Given the description of an element on the screen output the (x, y) to click on. 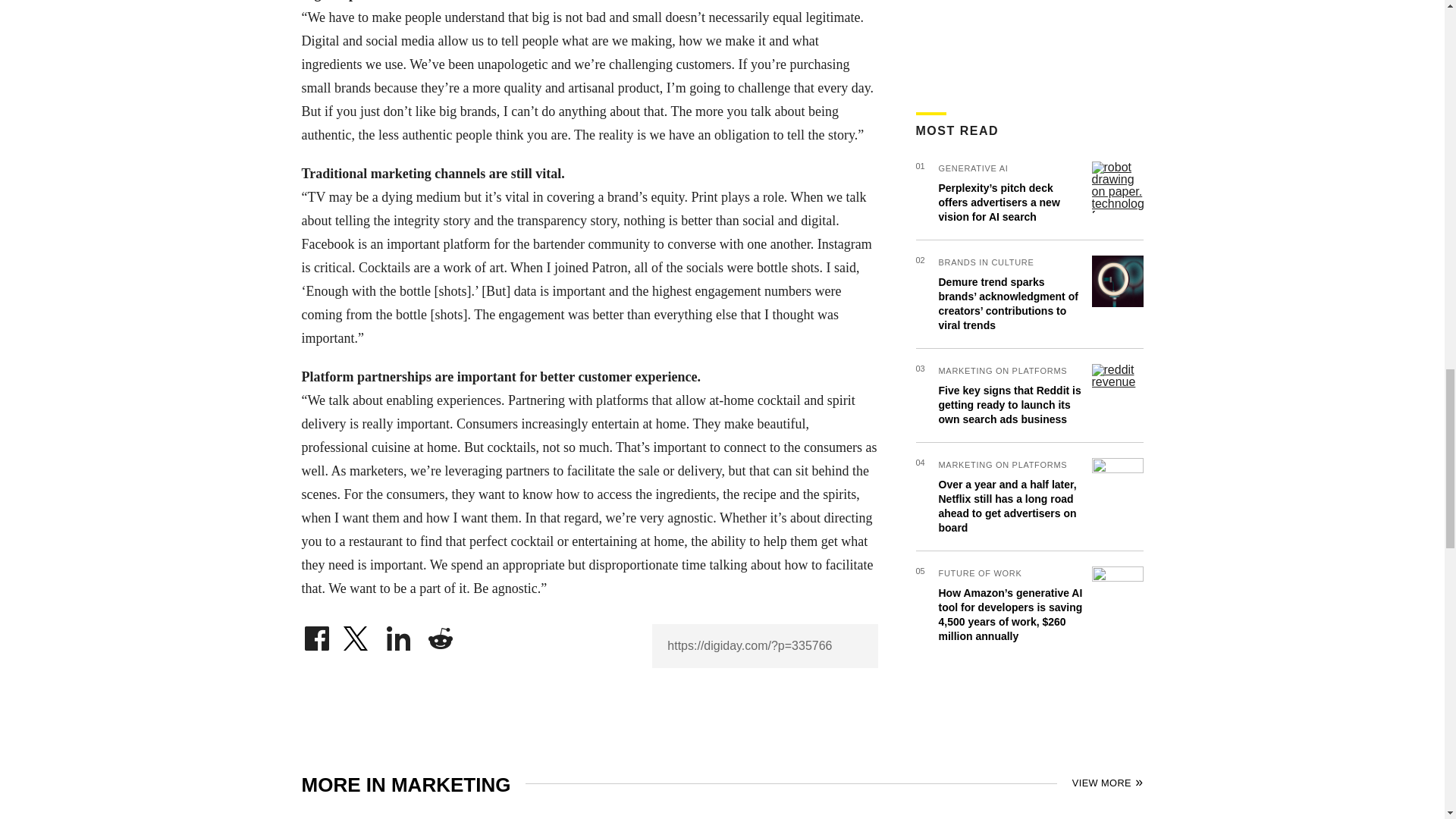
Share on LinkedIn (398, 634)
Share on Twitter (357, 634)
Share on Facebook (316, 634)
Share on Reddit (440, 634)
